Given the description of an element on the screen output the (x, y) to click on. 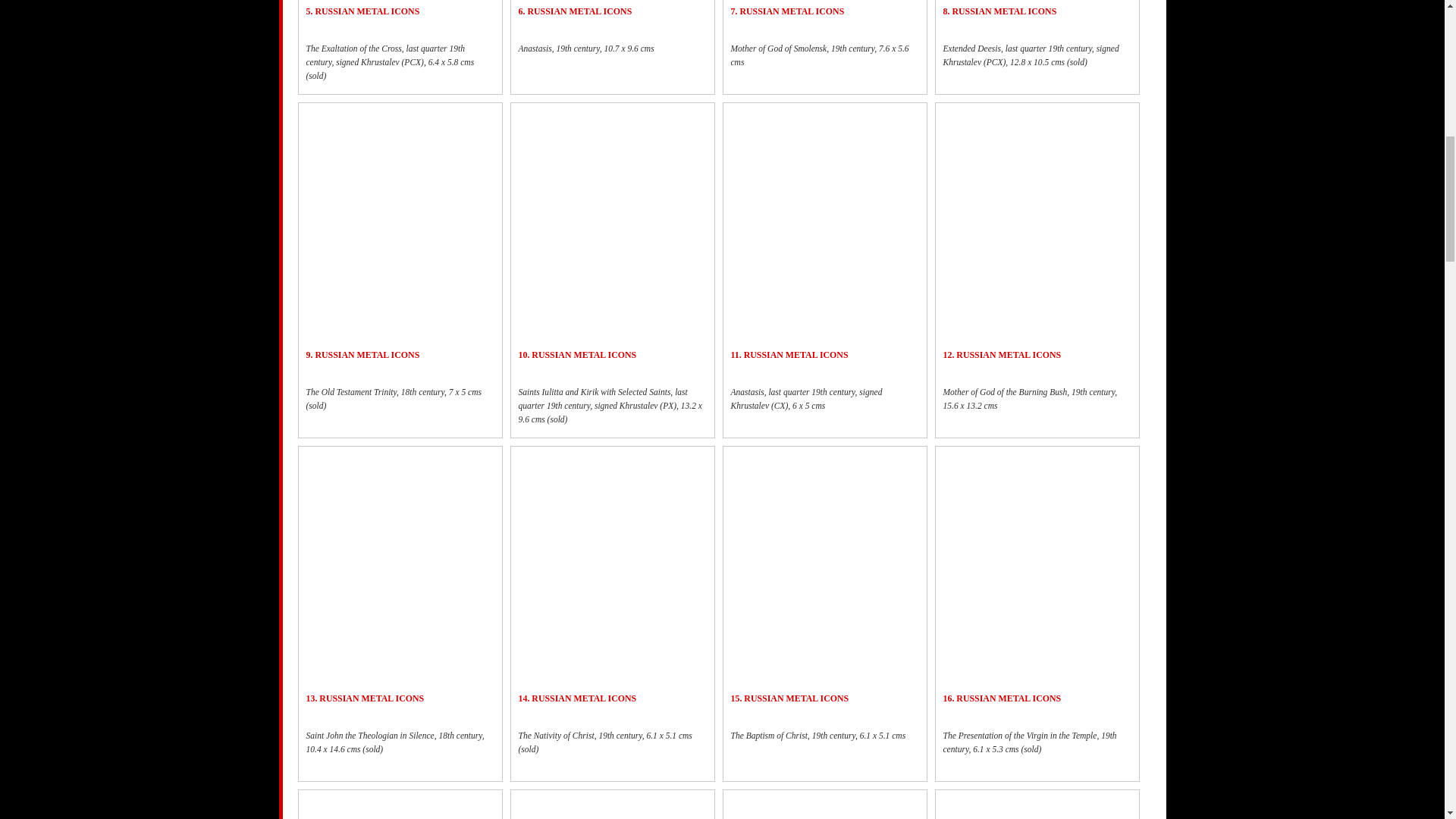
13. Russian Metal Icons (400, 521)
16. Russian Metal Icons (1037, 559)
17. Russian Metal Icons (400, 807)
6. RUSSIAN METAL ICONS (574, 10)
Anastasis, 19th century, 10.7 x 9.6 cms (612, 54)
8. RUSSIAN METAL ICONS (1000, 10)
11. Russian Metal Icons (824, 214)
9. RUSSIAN METAL ICONS (362, 354)
7. RUSSIAN METAL ICONS (787, 10)
Mother of God of Smolensk, 19th century, 7.6 x 5.6 cms (824, 61)
